Given the description of an element on the screen output the (x, y) to click on. 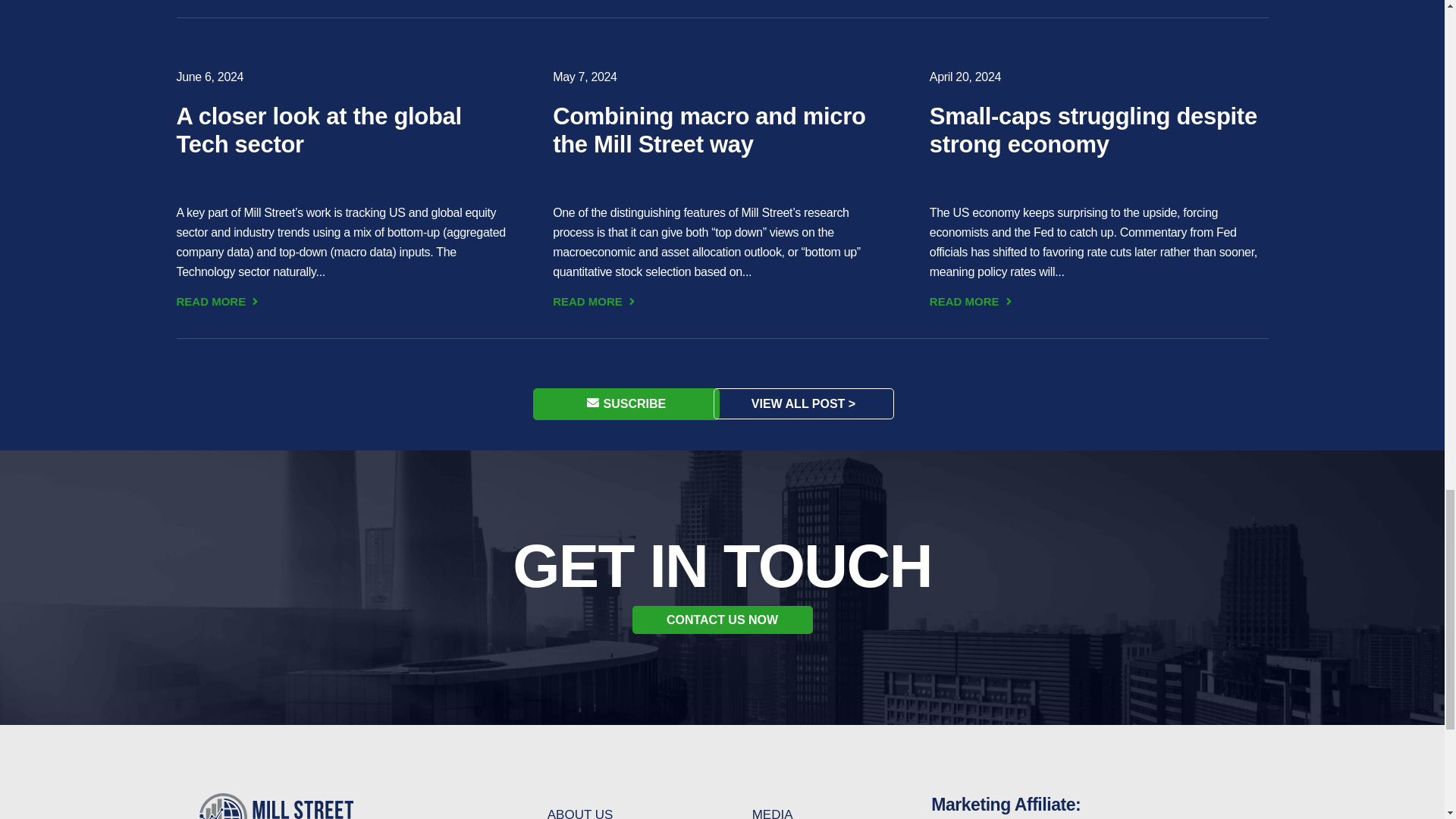
READ MORE (972, 302)
READ MORE (218, 302)
Small-caps struggling despite strong economy (1093, 130)
SUSCRIBE (625, 404)
READ MORE (595, 302)
Combining macro and micro the Mill Street way (709, 130)
A closer look at the global Tech sector (318, 130)
